Given the description of an element on the screen output the (x, y) to click on. 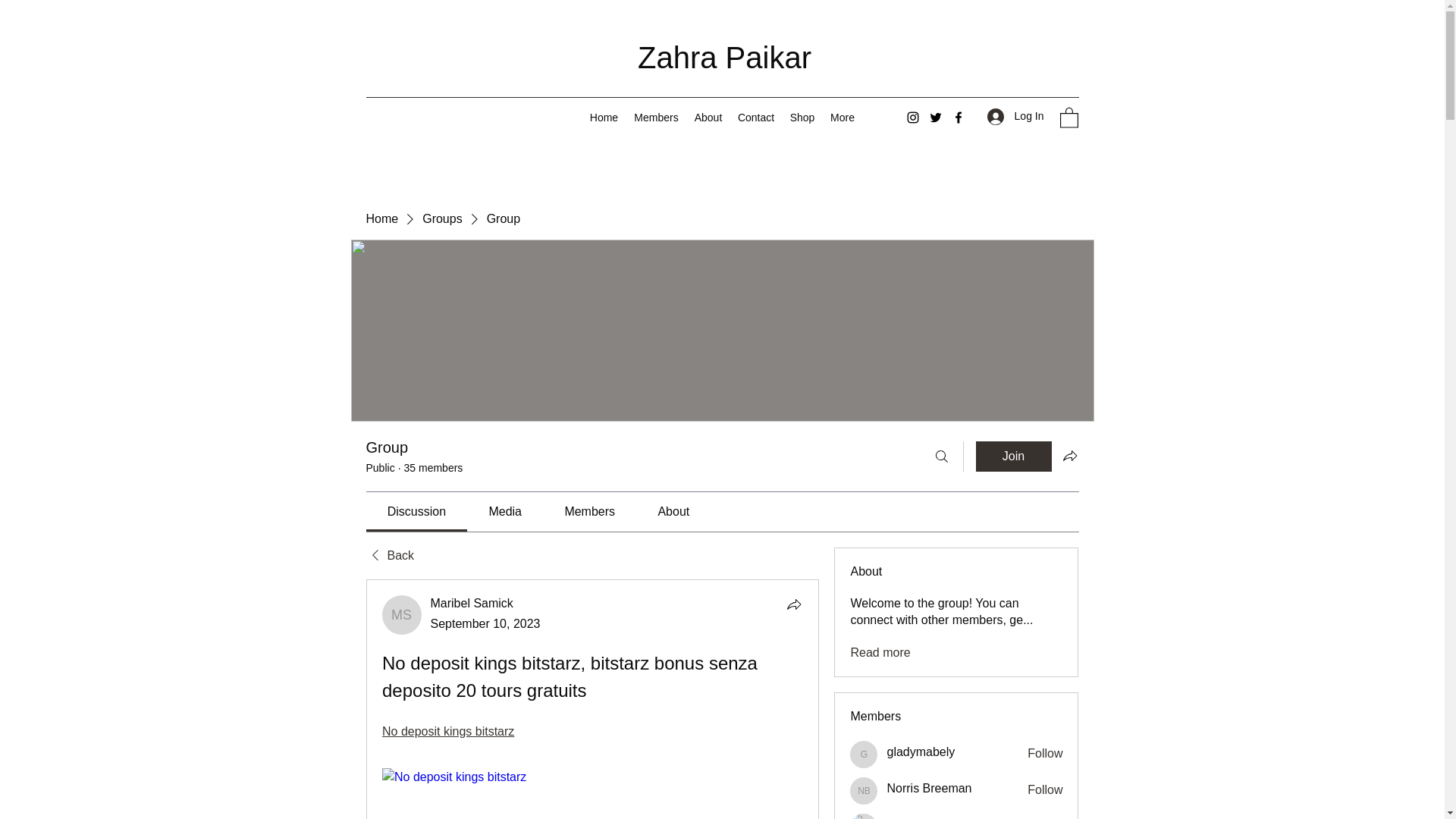
Shop (802, 117)
Maribel Samick (471, 603)
Groups (441, 218)
Follow (1044, 790)
Members (656, 117)
gladymabely (863, 754)
Norris Breeman (928, 788)
About (708, 117)
Home (604, 117)
Read more (880, 652)
